Given the description of an element on the screen output the (x, y) to click on. 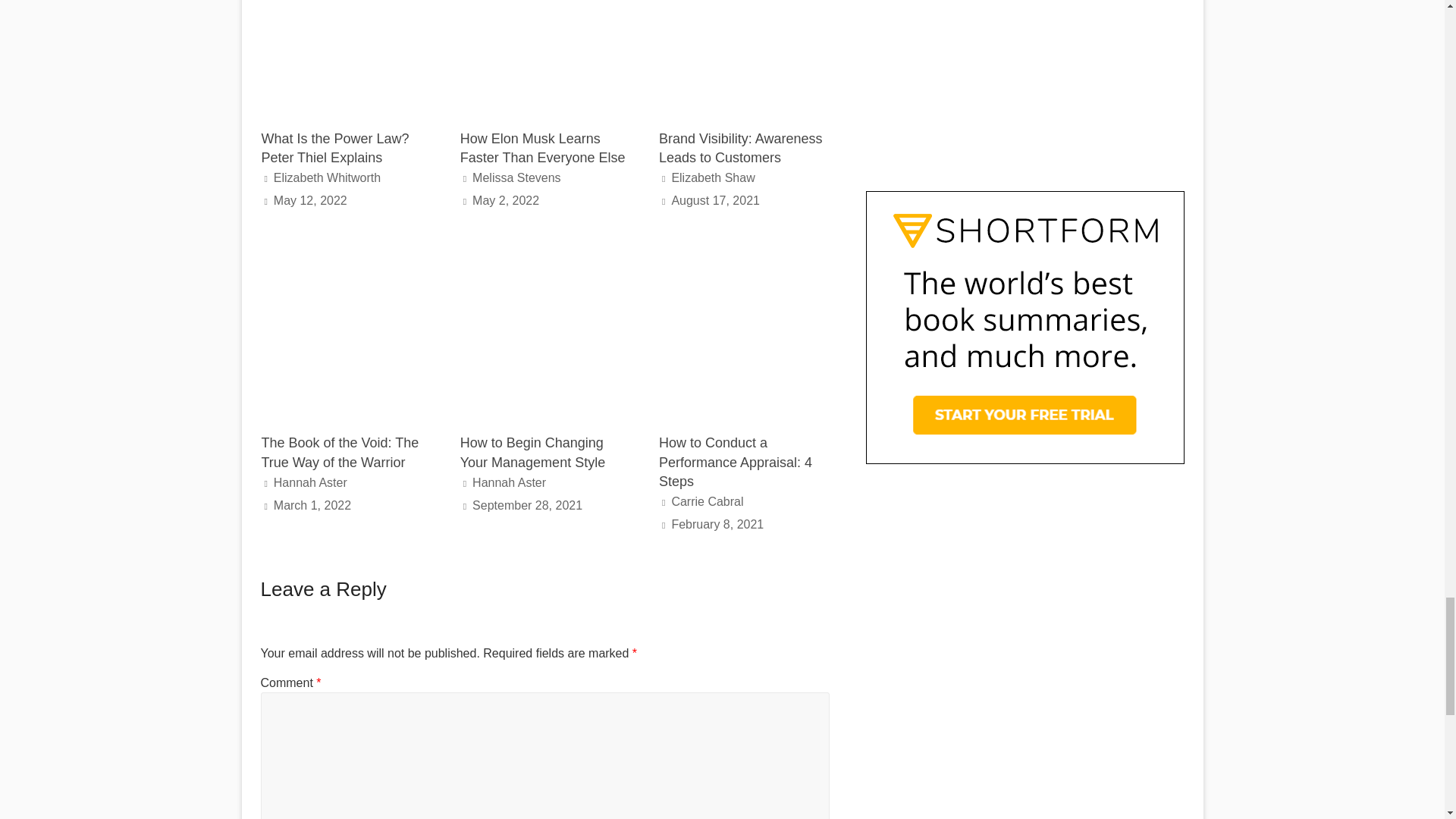
What Is the Power Law? Peter Thiel Explains (334, 148)
How Elon Musk Learns Faster Than Everyone Else (543, 148)
The Book of the Void: The True Way of the Warrior (339, 451)
Elizabeth Whitworth (326, 177)
What Is the Power Law? Peter Thiel Explains (345, 58)
How Elon Musk Learns Faster Than Everyone Else (543, 148)
What Is the Power Law? Peter Thiel Explains (334, 148)
Brand Visibility: Awareness Leads to Customers (743, 58)
Brand Visibility: Awareness Leads to Customers (740, 148)
August 17, 2021 (715, 200)
How Elon Musk Learns Faster Than Everyone Else (545, 58)
Elizabeth Shaw (712, 177)
The Book of the Void: The True Way of the Warrior (345, 257)
May 12, 2022 (310, 200)
Melissa Stevens (515, 177)
